Given the description of an element on the screen output the (x, y) to click on. 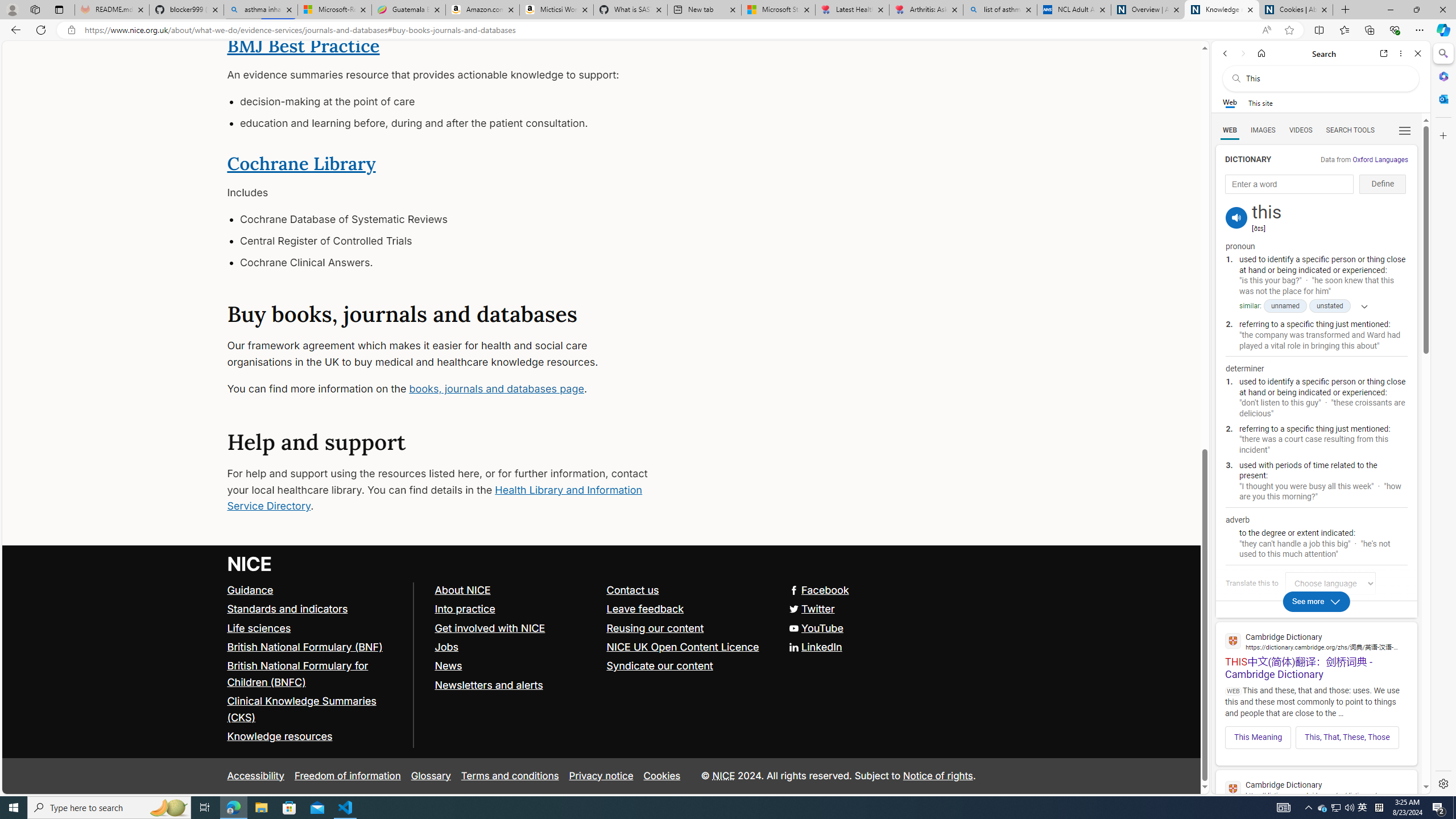
Glossary (430, 775)
Cambridge Dictionary (1315, 788)
VIDEOS (1300, 130)
Privacy notice (601, 775)
